Given the description of an element on the screen output the (x, y) to click on. 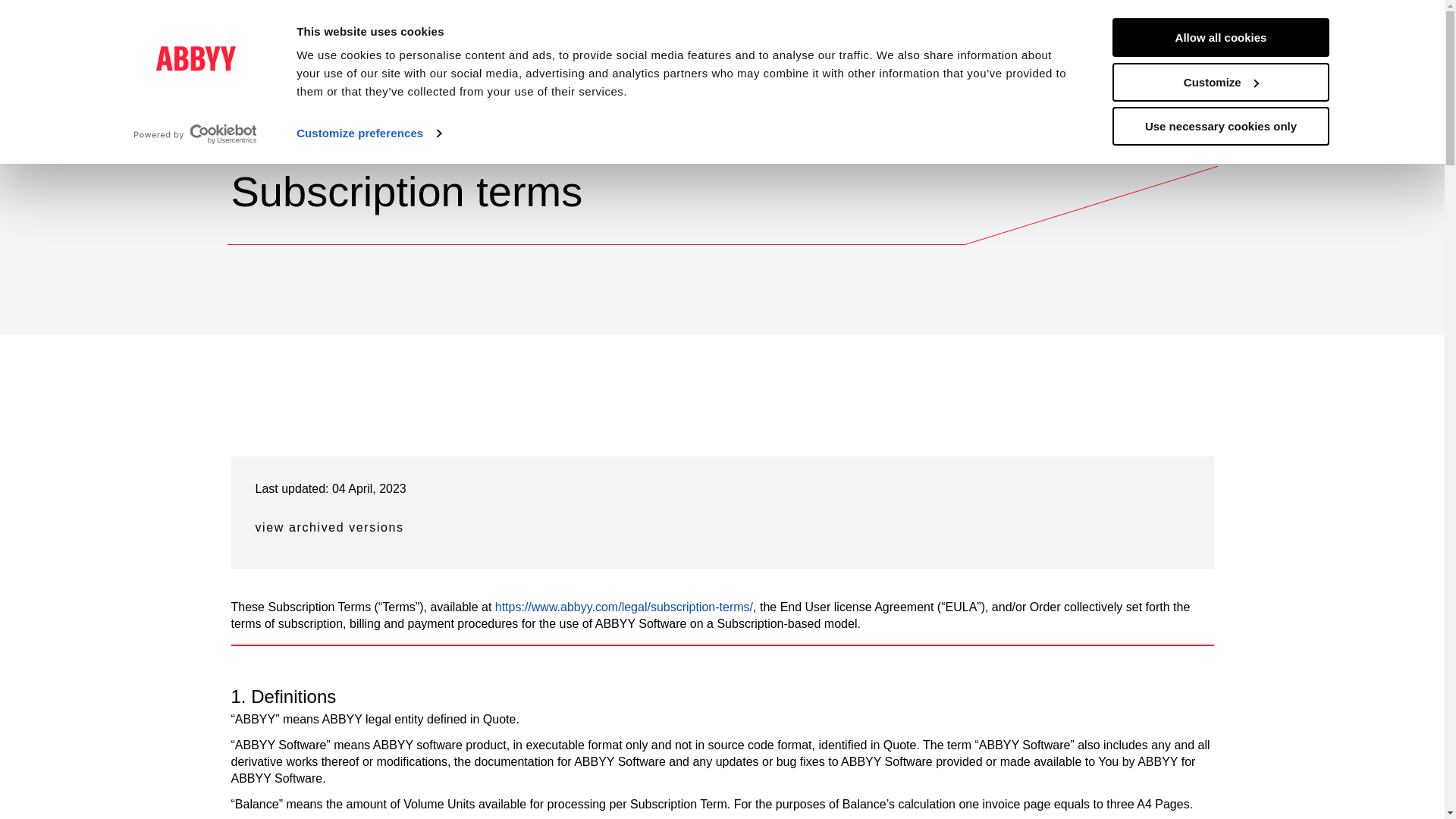
Customize preferences (369, 133)
